Given the description of an element on the screen output the (x, y) to click on. 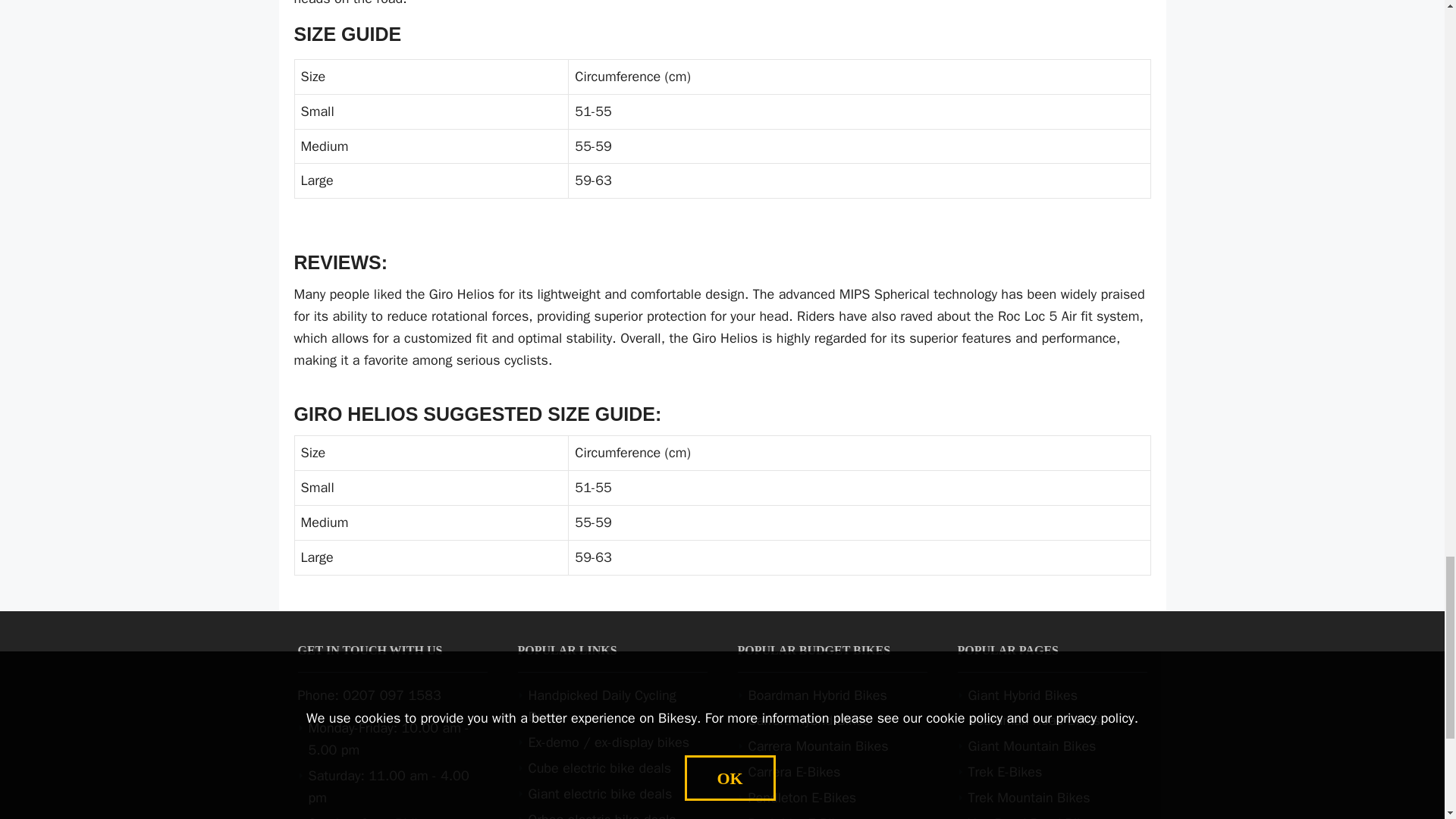
Handpicked Daily Cycling Deals (601, 706)
